Given the description of an element on the screen output the (x, y) to click on. 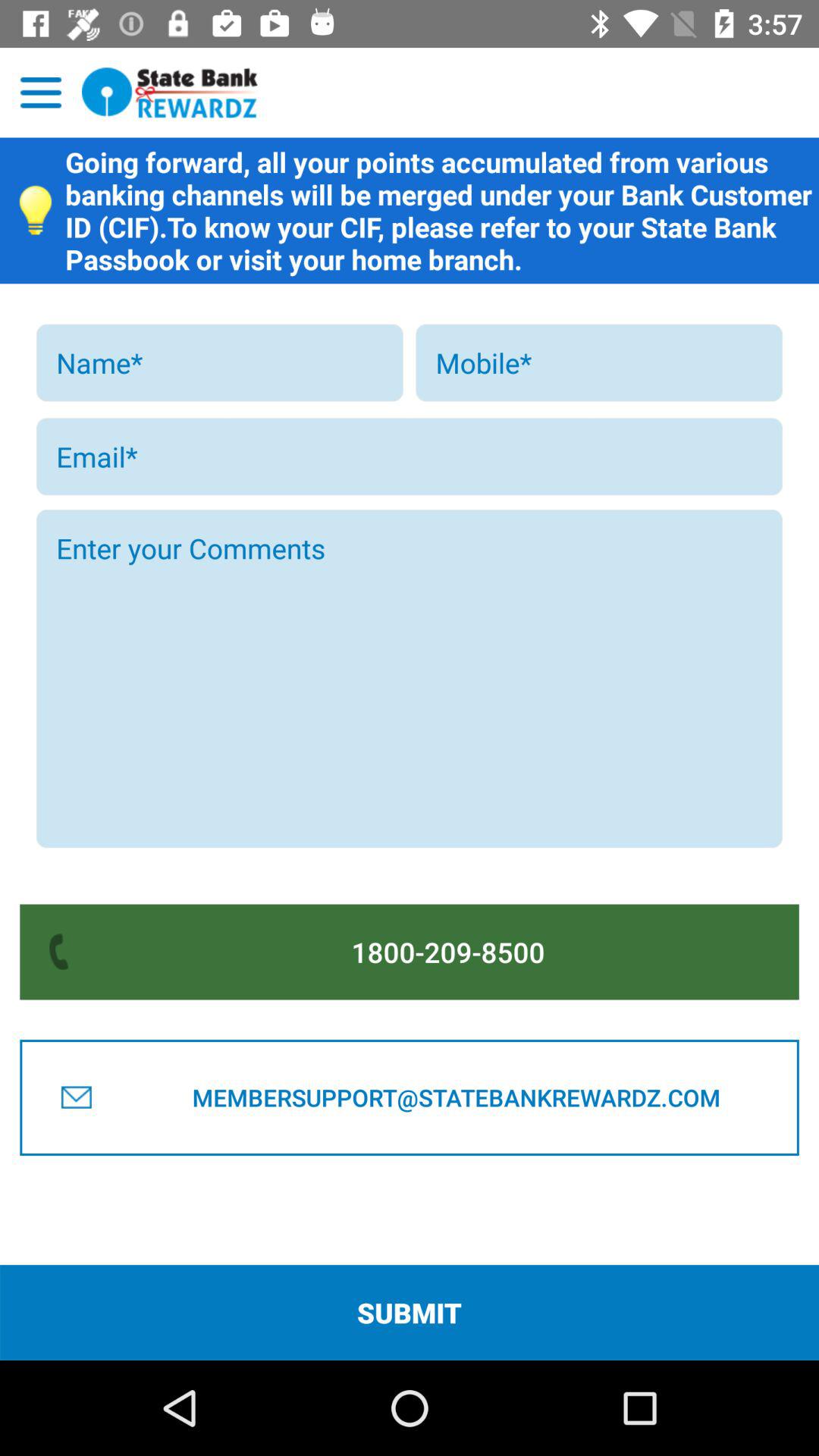
open menu (40, 92)
